Given the description of an element on the screen output the (x, y) to click on. 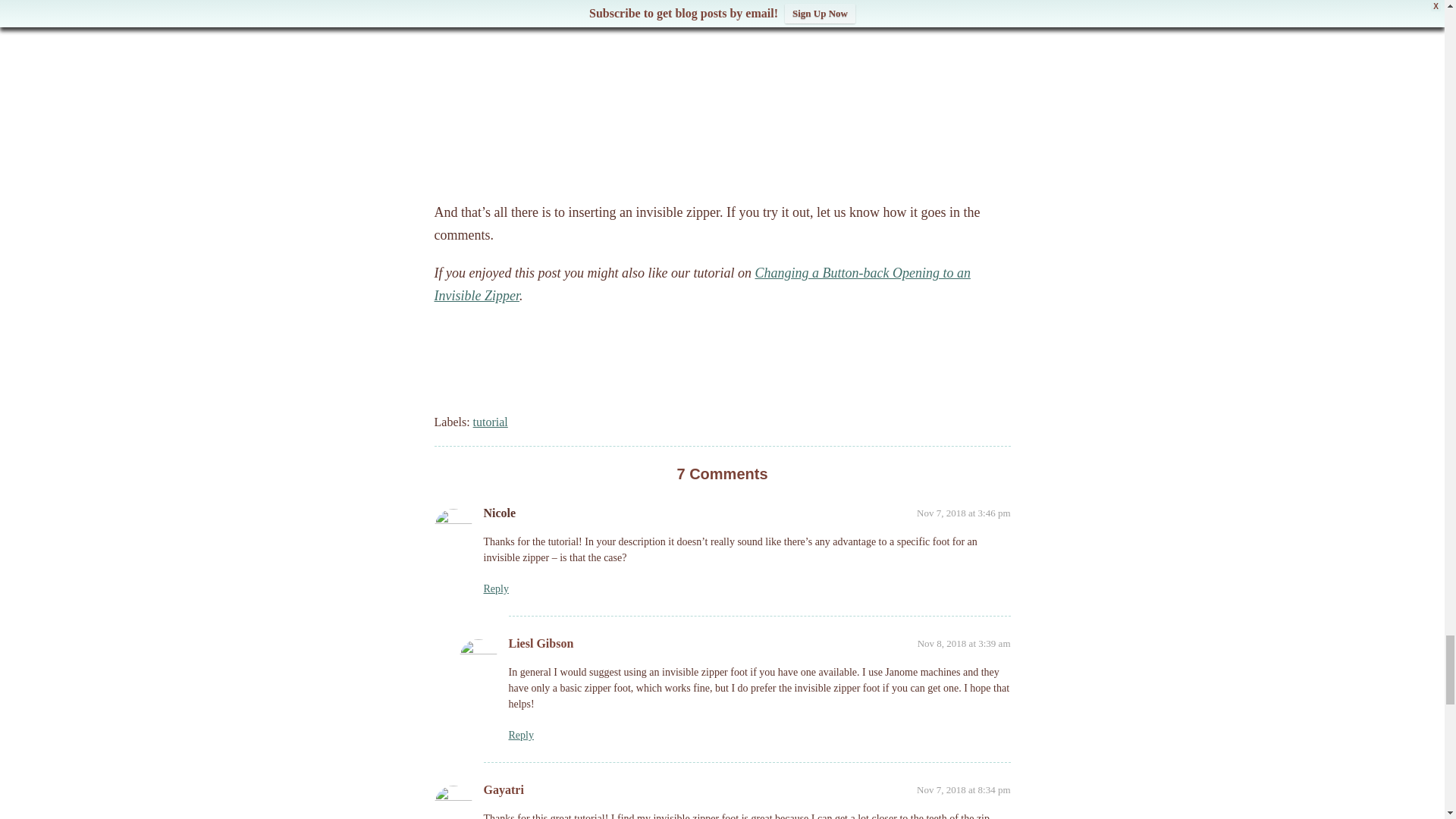
tutorial (490, 421)
Liesl Gibson (540, 643)
Reply (520, 735)
Nov 8, 2018 at 3:39 am (963, 643)
Changing a Button-back Opening to an Invisible Zipper (701, 284)
Reply (495, 588)
Nov 7, 2018 at 3:46 pm (963, 512)
Nov 7, 2018 at 8:34 pm (963, 789)
Gayatri (503, 789)
